Given the description of an element on the screen output the (x, y) to click on. 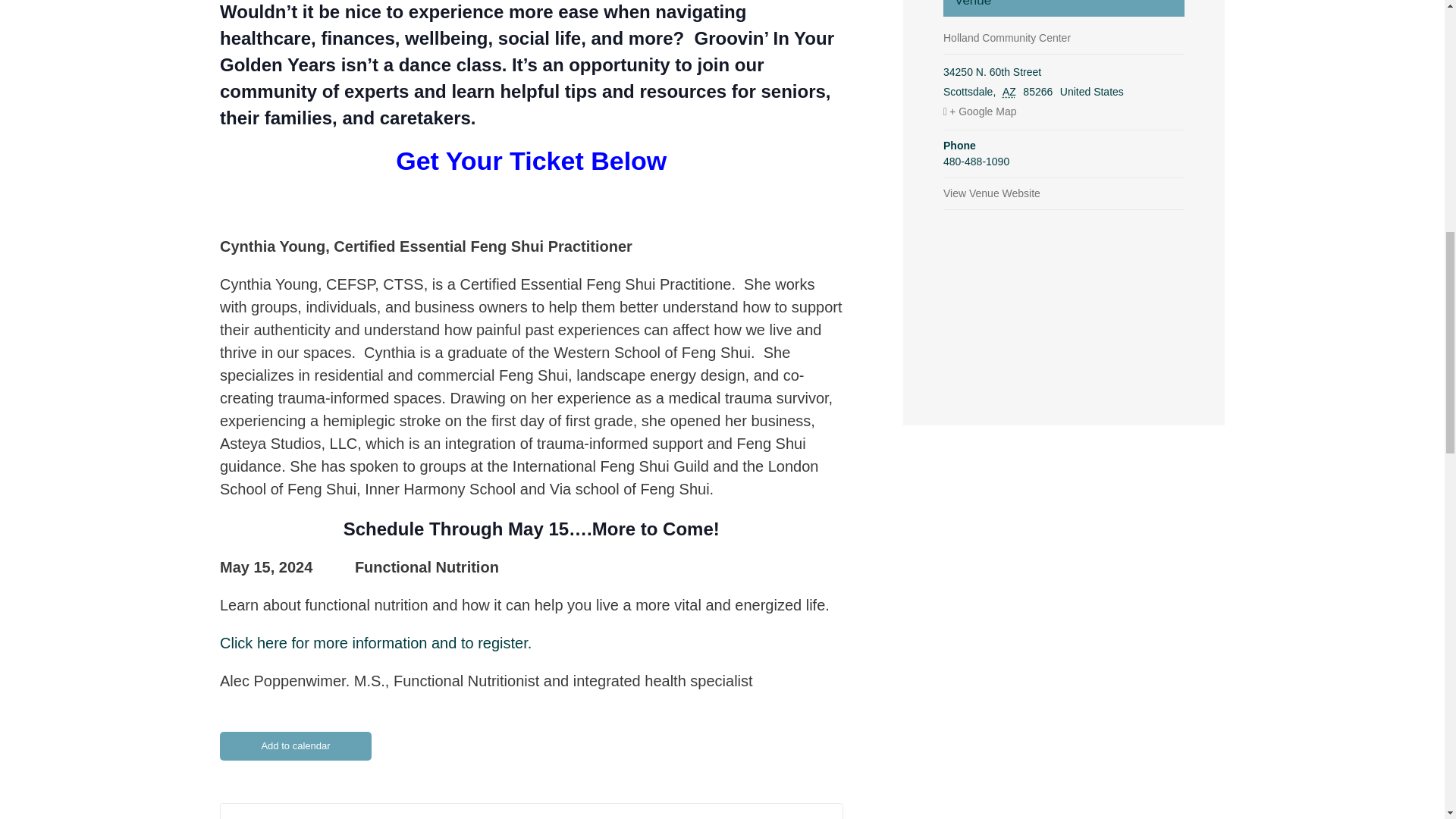
Click here for more information and to register. (375, 642)
Arizona (1011, 91)
Add to calendar (295, 746)
